Given the description of an element on the screen output the (x, y) to click on. 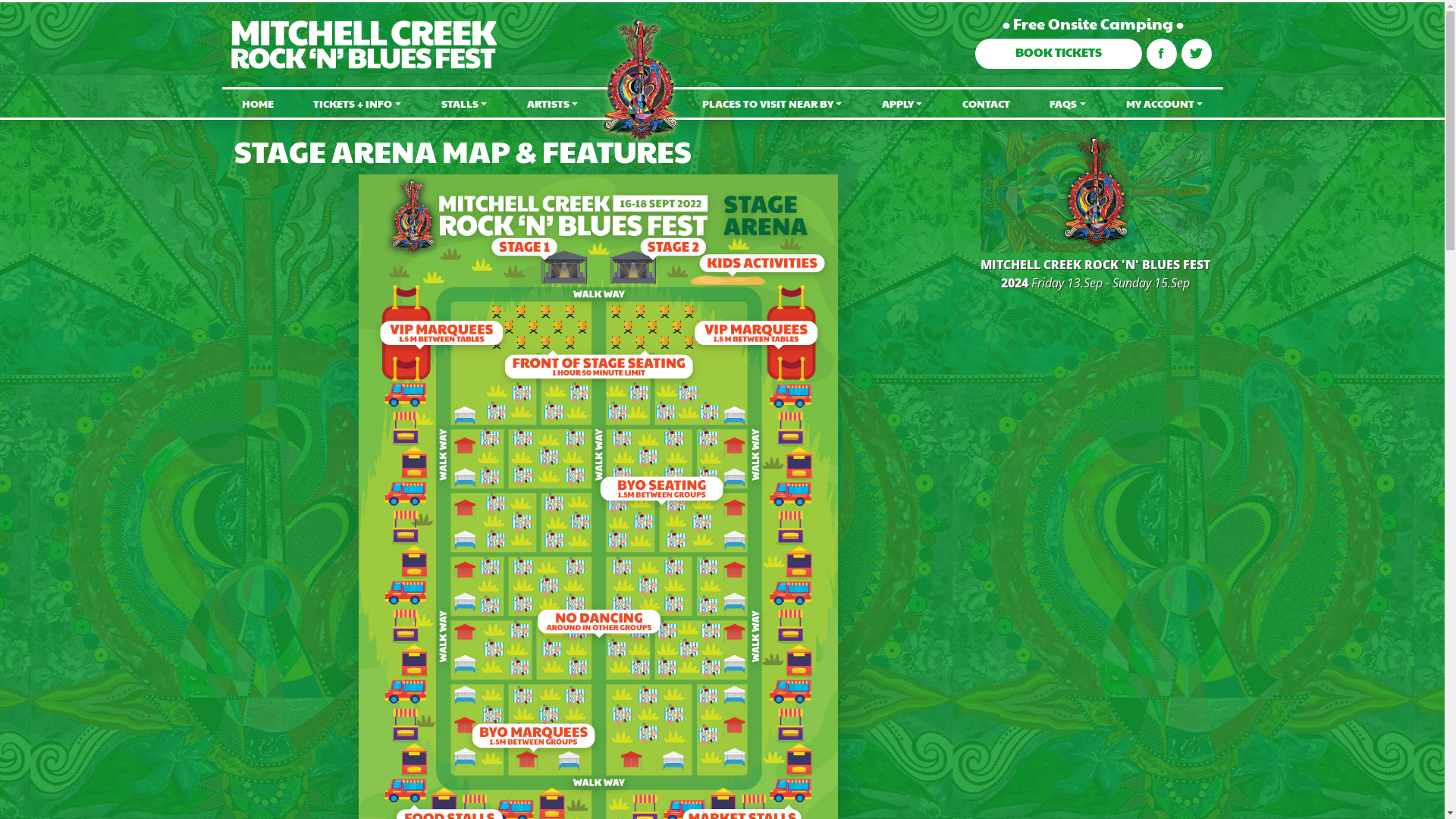
STALLS Element type: text (463, 103)
TICKETS + INFO Element type: text (356, 103)
CONTACT Element type: text (986, 103)
MY ACCOUNT Element type: text (1163, 103)
FAQS Element type: text (1067, 103)
ARTISTS Element type: text (551, 103)
BOOK TICKETS Element type: text (1058, 53)
PLACES TO VISIT NEAR BY Element type: text (771, 103)
APPLY Element type: text (901, 103)
HOME Element type: text (257, 103)
